Given the description of an element on the screen output the (x, y) to click on. 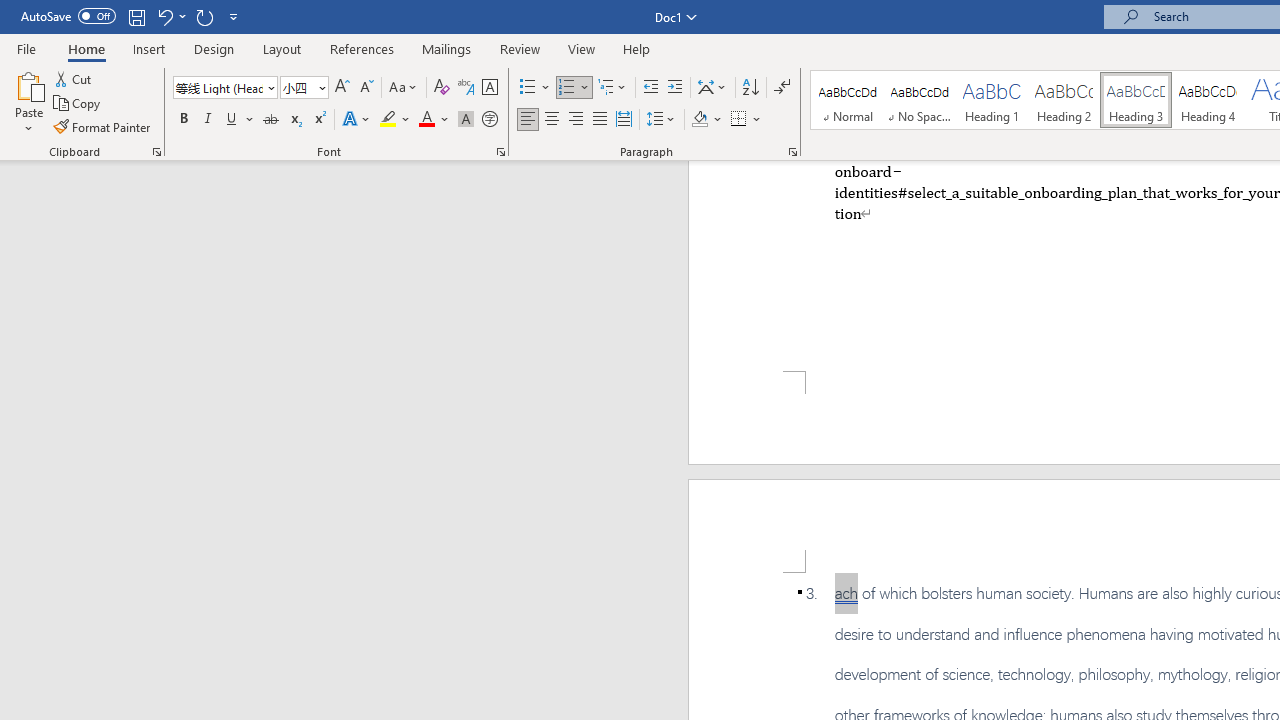
Align Right (575, 119)
Justify (599, 119)
Character Shading (465, 119)
Grow Font (342, 87)
View (582, 48)
Insert (149, 48)
Enclose Characters... (489, 119)
Italic (207, 119)
Customize Quick Access Toolbar (234, 15)
Asian Layout (712, 87)
Design (214, 48)
